Given the description of an element on the screen output the (x, y) to click on. 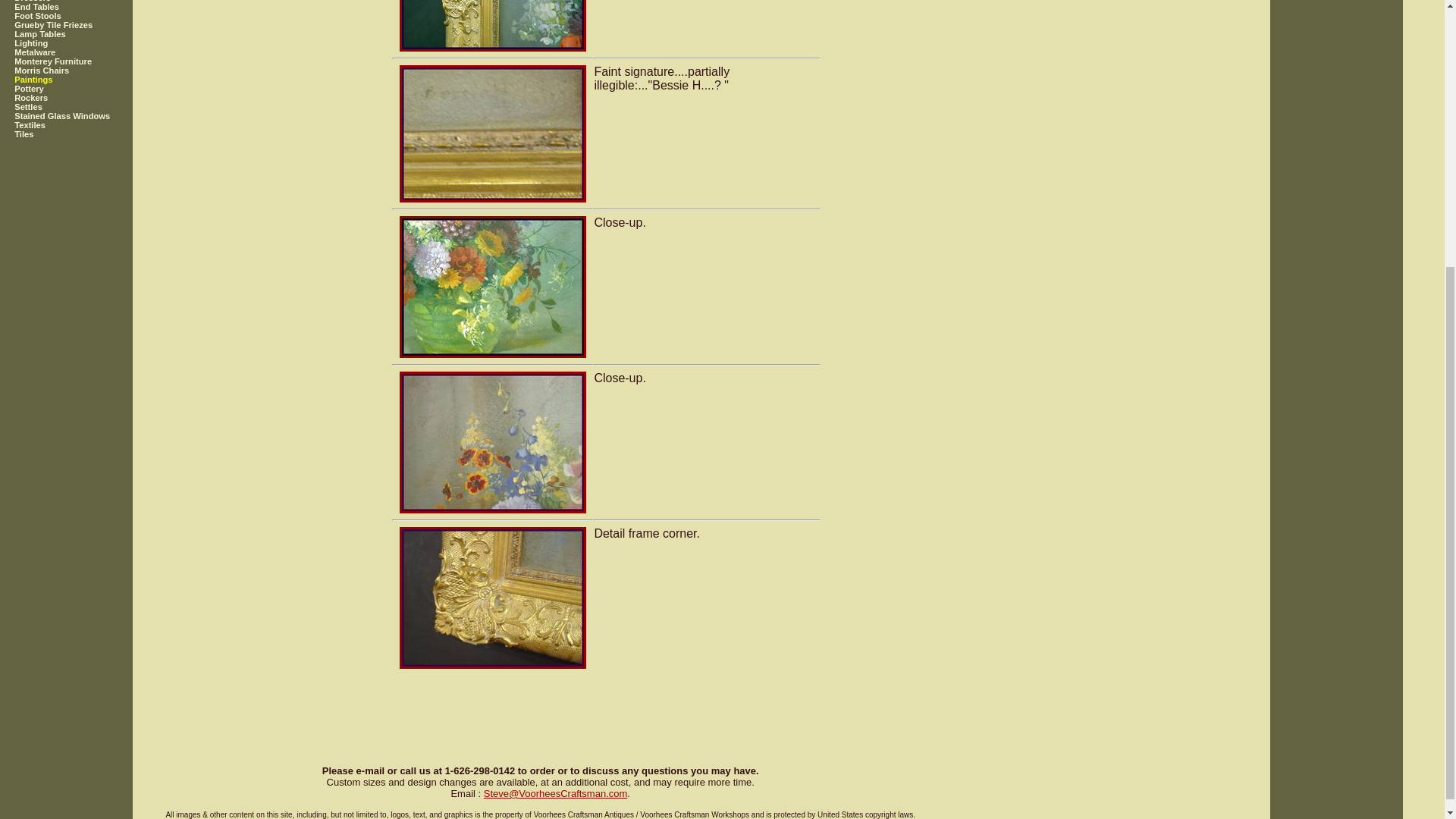
Dressers (82, 1)
End Tables (82, 6)
Foot Stools (82, 15)
